Given the description of an element on the screen output the (x, y) to click on. 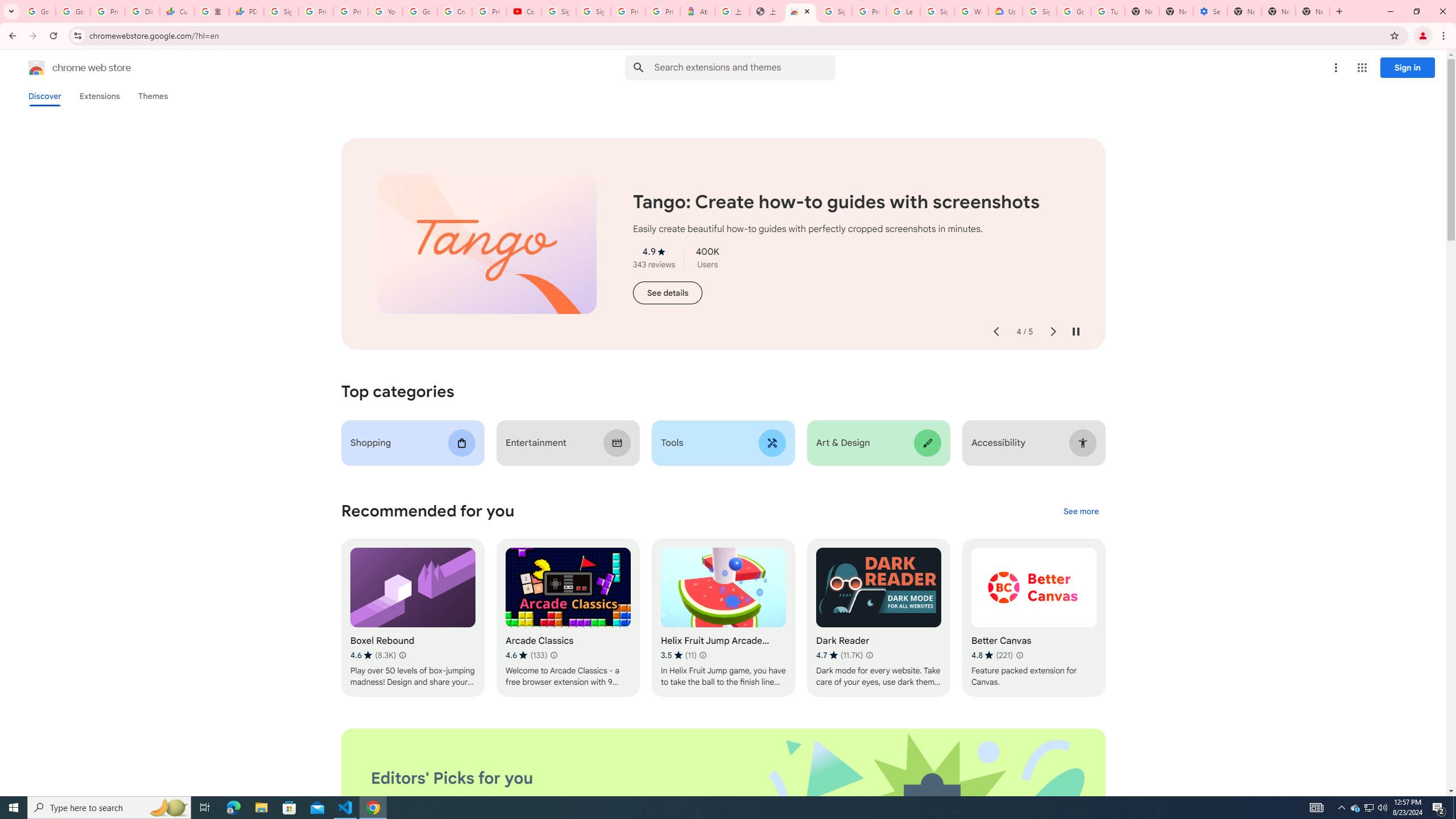
Privacy Checkup (349, 11)
Accessibility (1033, 443)
New Tab (1243, 11)
Sign in - Google Accounts (1039, 11)
Helix Fruit Jump Arcade Game (722, 617)
PDD Holdings Inc - ADR (PDD) Price & News - Google Finance (246, 11)
Search input (744, 67)
Tools (722, 443)
Next slide (1052, 331)
Average rating 4.8 out of 5 stars. 221 ratings. (992, 655)
Chrome Web Store logo (36, 67)
Sign in - Google Accounts (834, 11)
Average rating 4.6 out of 5 stars. 8.3K ratings. (372, 655)
